Given the description of an element on the screen output the (x, y) to click on. 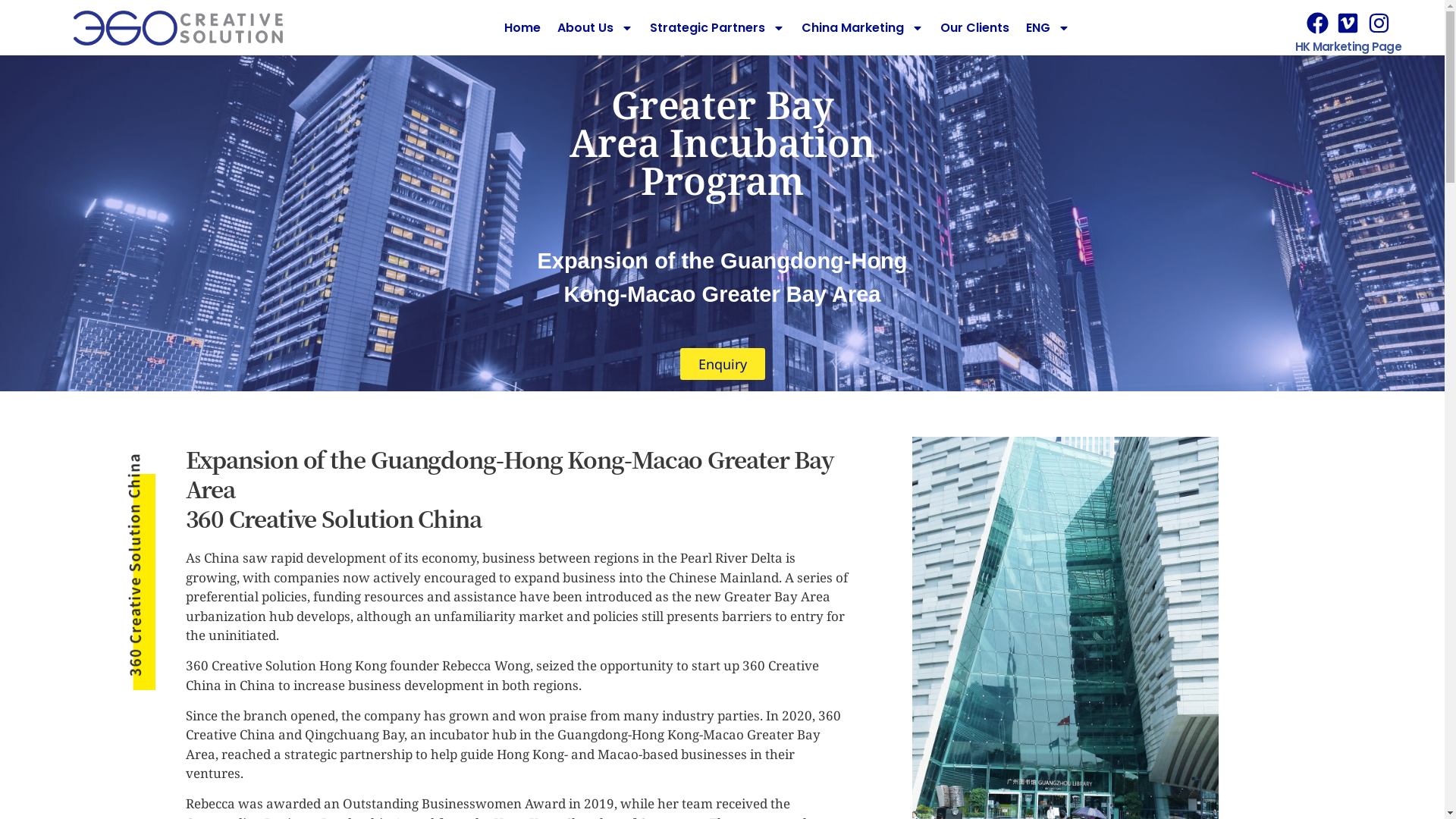
Our Clients Element type: text (974, 27)
Home Element type: text (522, 27)
HK Marketing Page Element type: text (1348, 46)
China Marketing Element type: text (862, 27)
About Us Element type: text (595, 27)
Strategic Partners Element type: text (717, 27)
Enquiry Element type: text (721, 363)
ENG Element type: text (1047, 27)
